Given the description of an element on the screen output the (x, y) to click on. 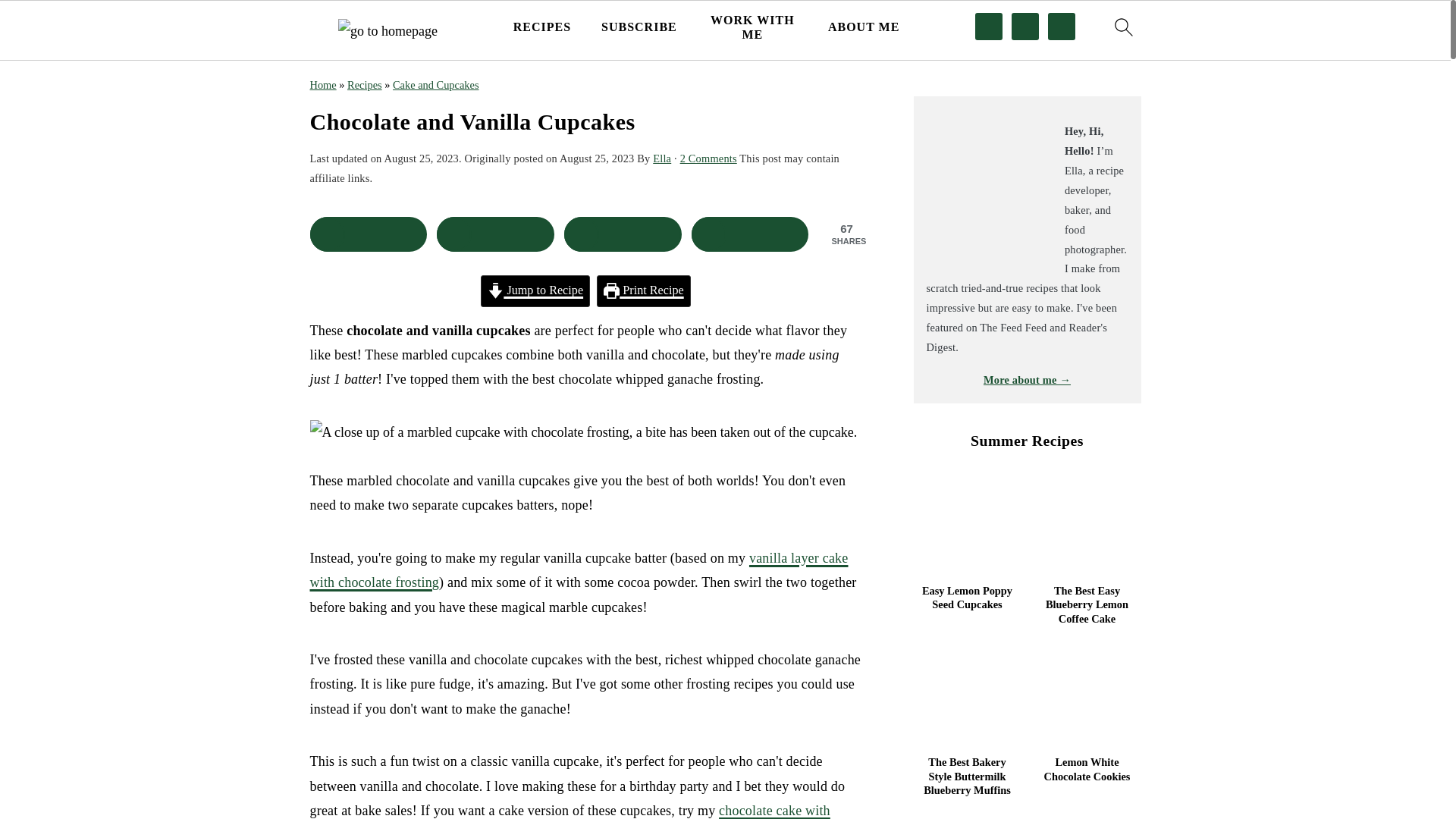
Cake and Cupcakes (436, 84)
Home (322, 84)
Save to Pinterest (622, 234)
WORK WITH ME (752, 27)
search icon (1122, 26)
Share on Facebook (367, 234)
SUBSCRIBE (639, 26)
Share on Yummly (750, 234)
RECIPES (541, 26)
